Given the description of an element on the screen output the (x, y) to click on. 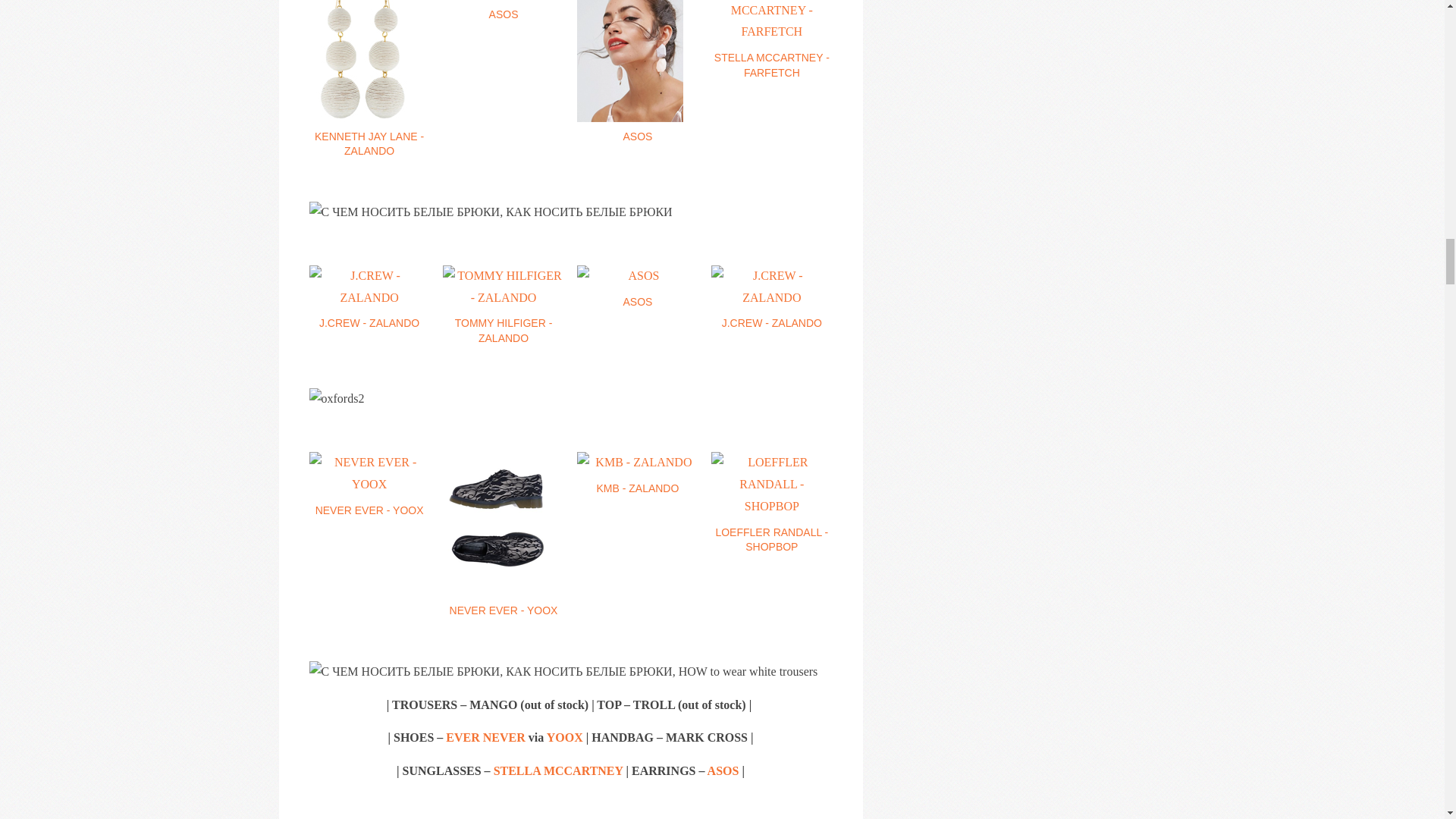
J.CREW - ZALANDO (771, 298)
J.CREW - ZALANDO (368, 298)
ASOS (636, 287)
STELLA MCCARTNEY - FARFETCH (771, 40)
EVER NEVER (484, 737)
STELLA MCCARTNEY (558, 770)
ASOS (723, 770)
NEVER EVER - YOOX (368, 484)
ASOS (502, 11)
KMB - ZALANDO (636, 474)
LOEFFLER RANDALL - SHOPBOP (771, 503)
TOMMY HILFIGER - ZALANDO (502, 305)
YOOX (565, 737)
